Given the description of an element on the screen output the (x, y) to click on. 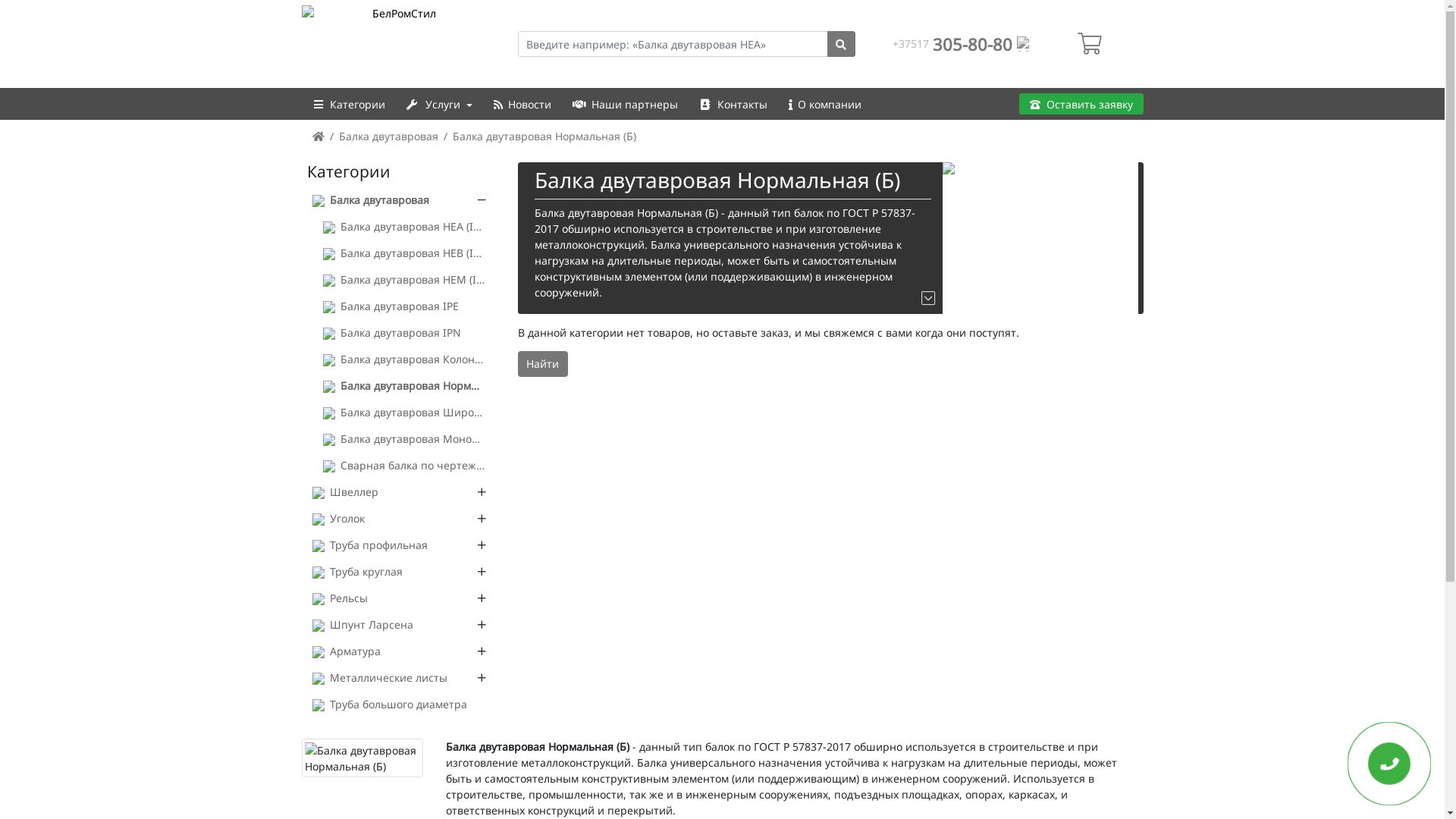
+37517
305-80-80  Element type: text (961, 43)
